Given the description of an element on the screen output the (x, y) to click on. 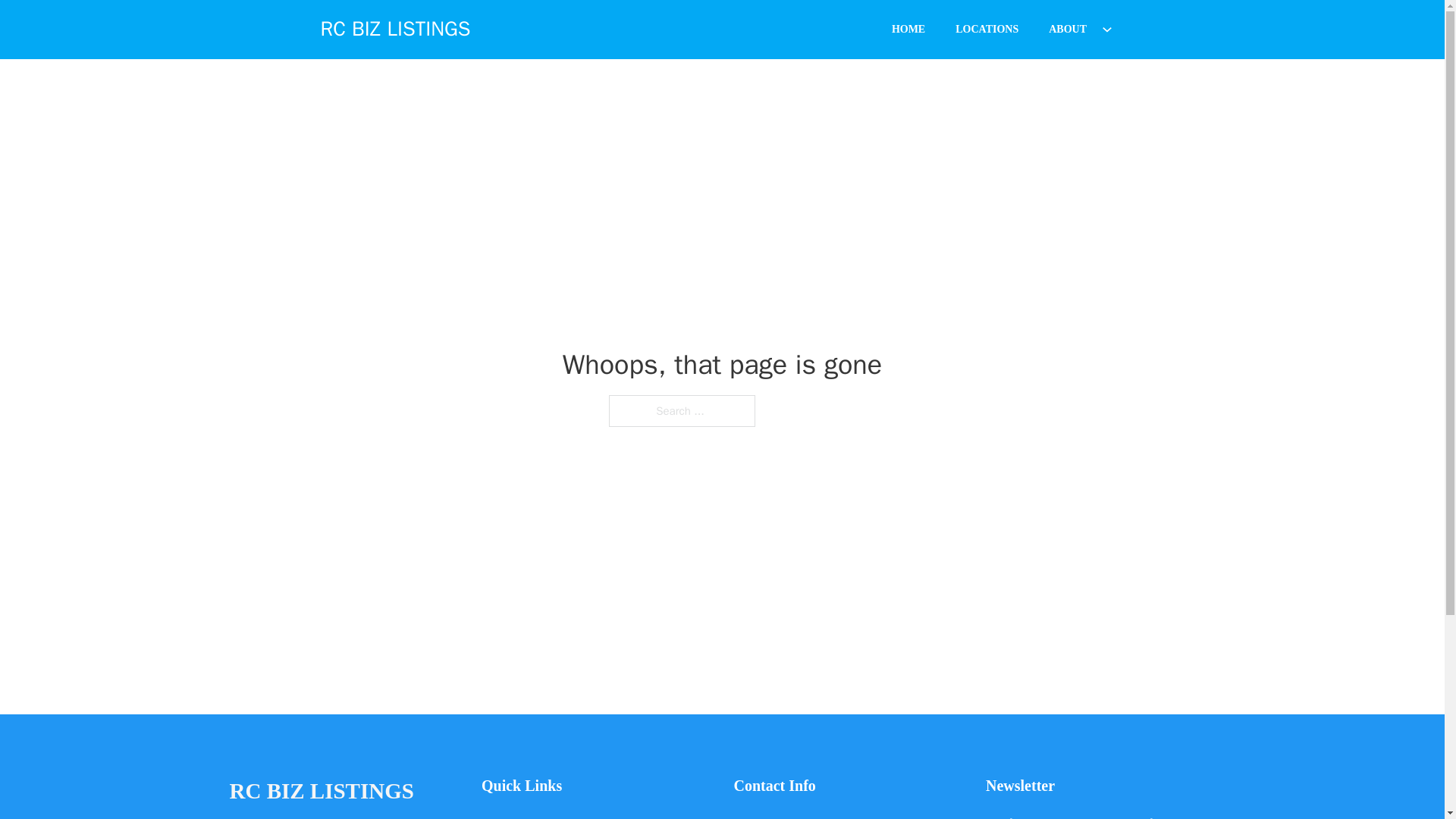
LOCATIONS (987, 29)
RC BIZ LISTINGS (320, 791)
HOME (908, 29)
Home (496, 816)
RC BIZ LISTINGS (395, 28)
